Given the description of an element on the screen output the (x, y) to click on. 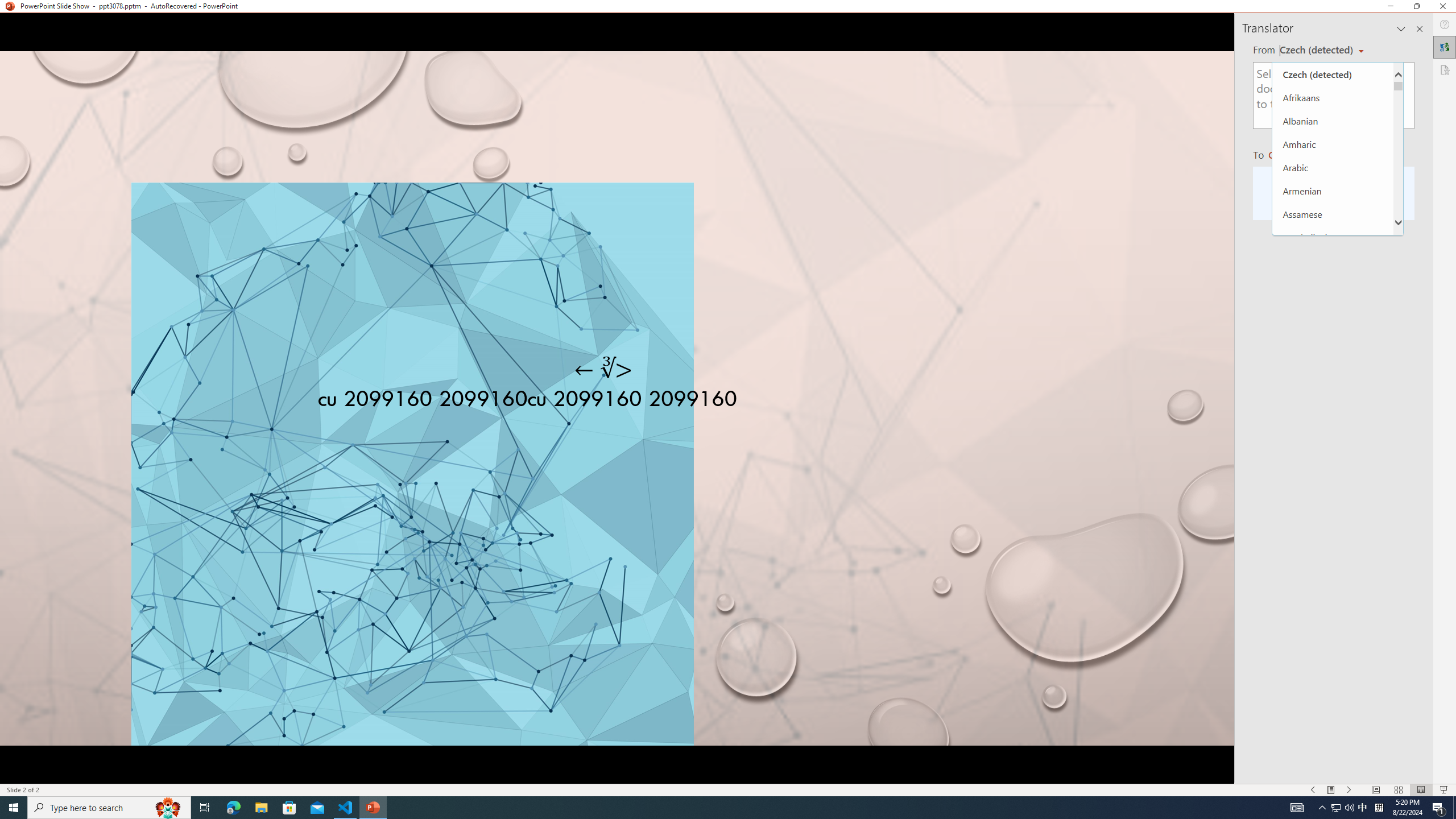
Azerbaijani (1332, 237)
Czech (detected) (1317, 50)
Dogri (1332, 679)
Cantonese (Traditional) (1332, 422)
Chhattisgarhi (1332, 469)
